Given the description of an element on the screen output the (x, y) to click on. 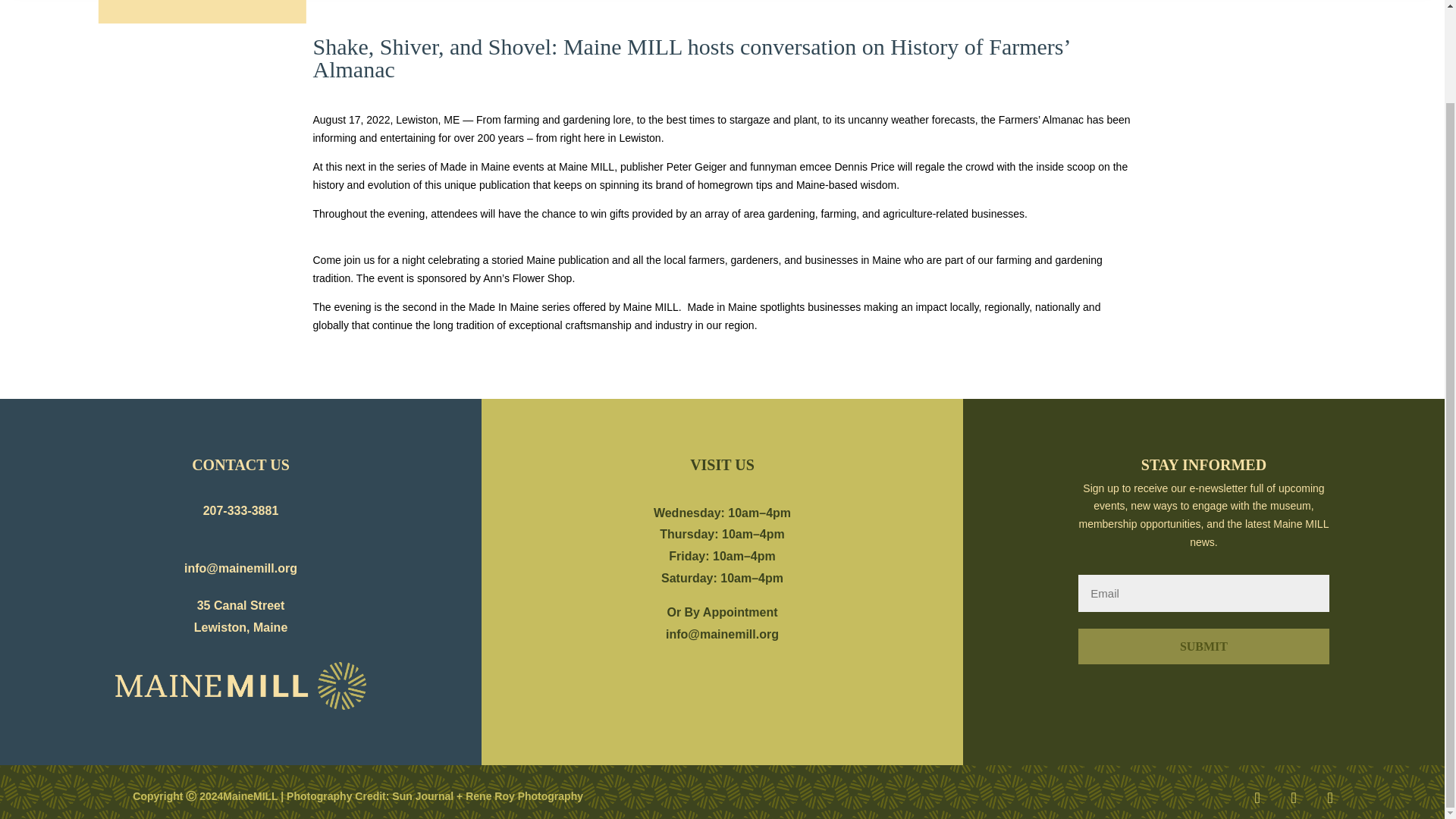
Follow on X (1293, 797)
Follow on Instagram (1329, 797)
Follow on Facebook (1256, 797)
